Given the description of an element on the screen output the (x, y) to click on. 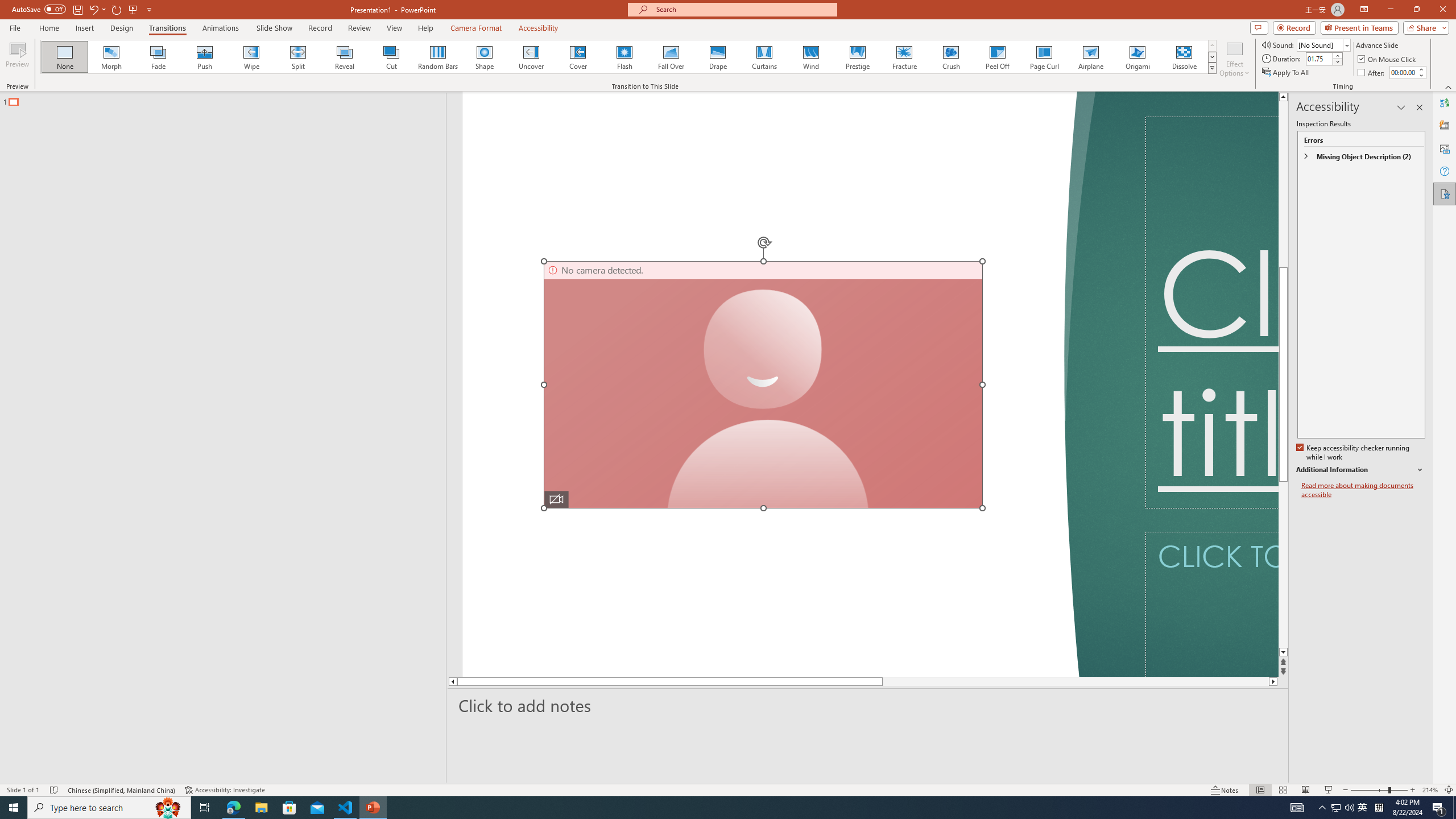
Slide Show (273, 28)
Fracture (903, 56)
On Mouse Click (1387, 58)
Transitions (167, 28)
More (1420, 69)
Effect Options (1234, 58)
Line down (1283, 652)
Accessibility Checker Accessibility: Investigate (226, 790)
Microsoft search (742, 9)
Record (1294, 27)
Design (122, 28)
Class: MsoCommandBar (728, 789)
System (6, 6)
Save (77, 9)
